Given the description of an element on the screen output the (x, y) to click on. 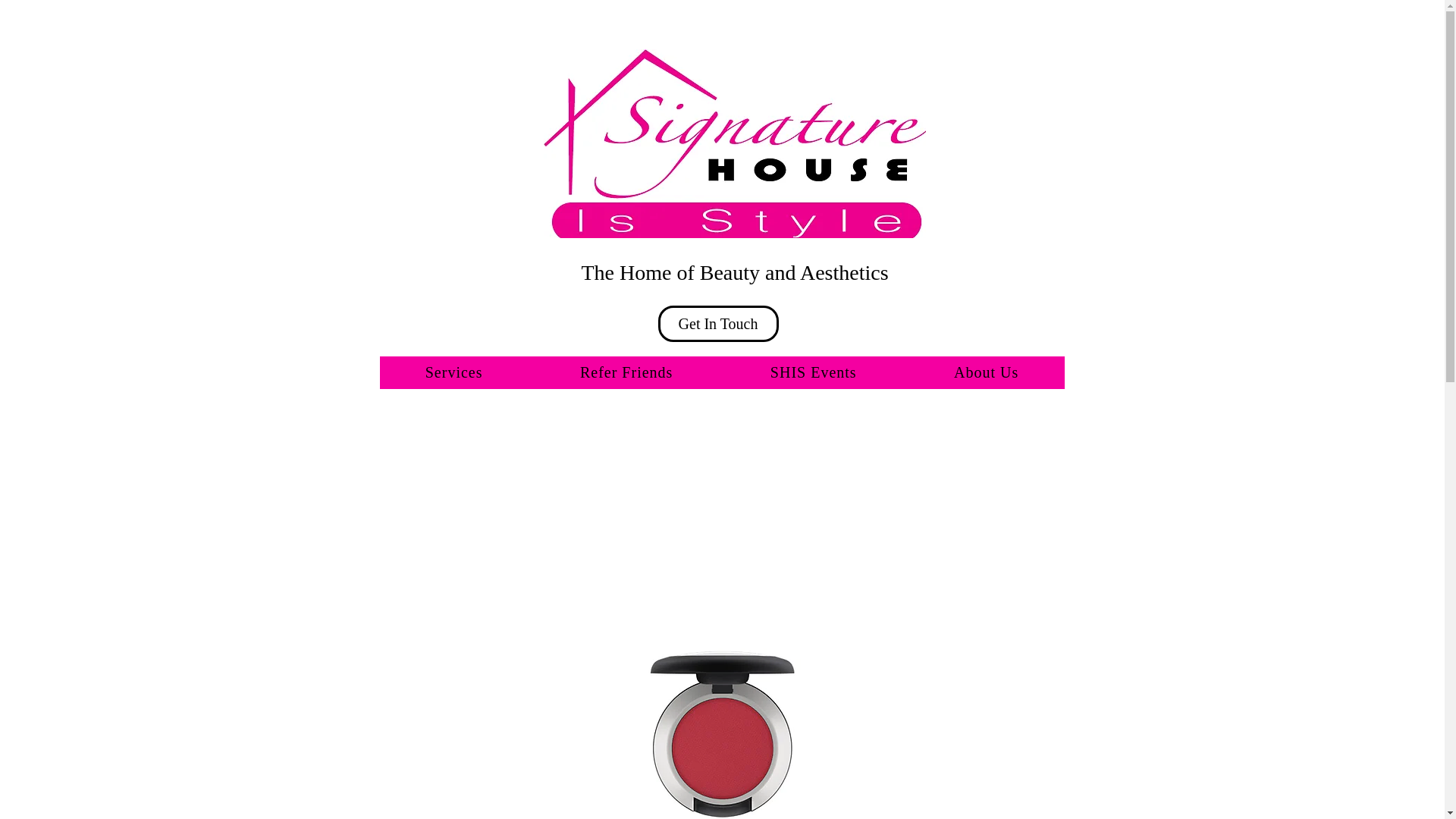
Get In Touch (718, 323)
Services (452, 372)
About Us (986, 372)
Refer Friends (626, 372)
SHIS Events (813, 372)
